Given the description of an element on the screen output the (x, y) to click on. 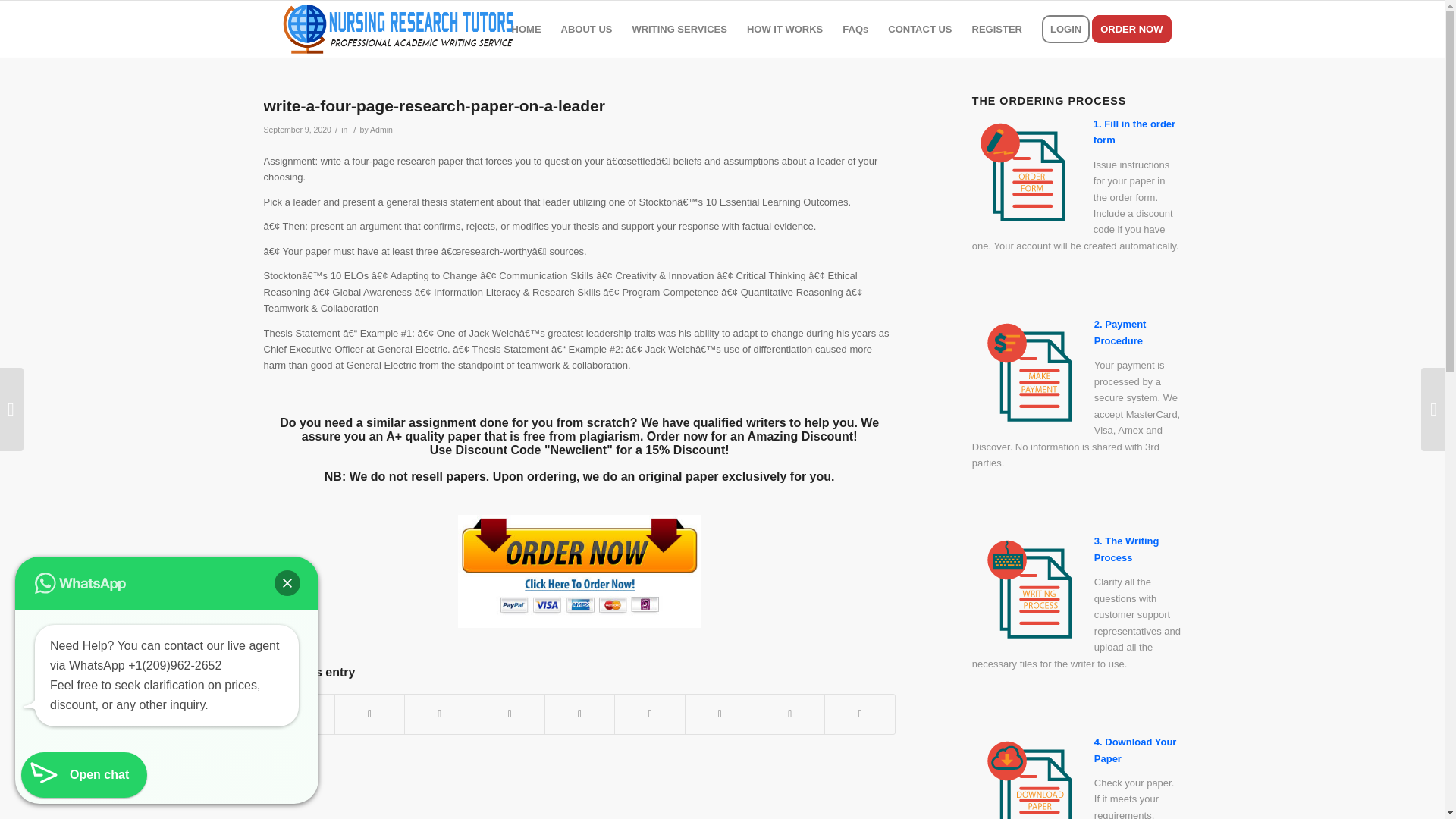
REGISTER (997, 28)
Admin (381, 129)
write-a-four-page-research-paper-on-a-leader (434, 105)
HOW IT WORKS (784, 28)
Close (287, 583)
CONTACT US (918, 28)
FAQs (854, 28)
Posts by Admin (381, 129)
WRITING SERVICES (678, 28)
Permanent Link: write-a-four-page-research-paper-on-a-leader (434, 105)
ABOUT US (587, 28)
ORDER NOW (1136, 28)
HOME (526, 28)
LOGIN (1065, 28)
